Given the description of an element on the screen output the (x, y) to click on. 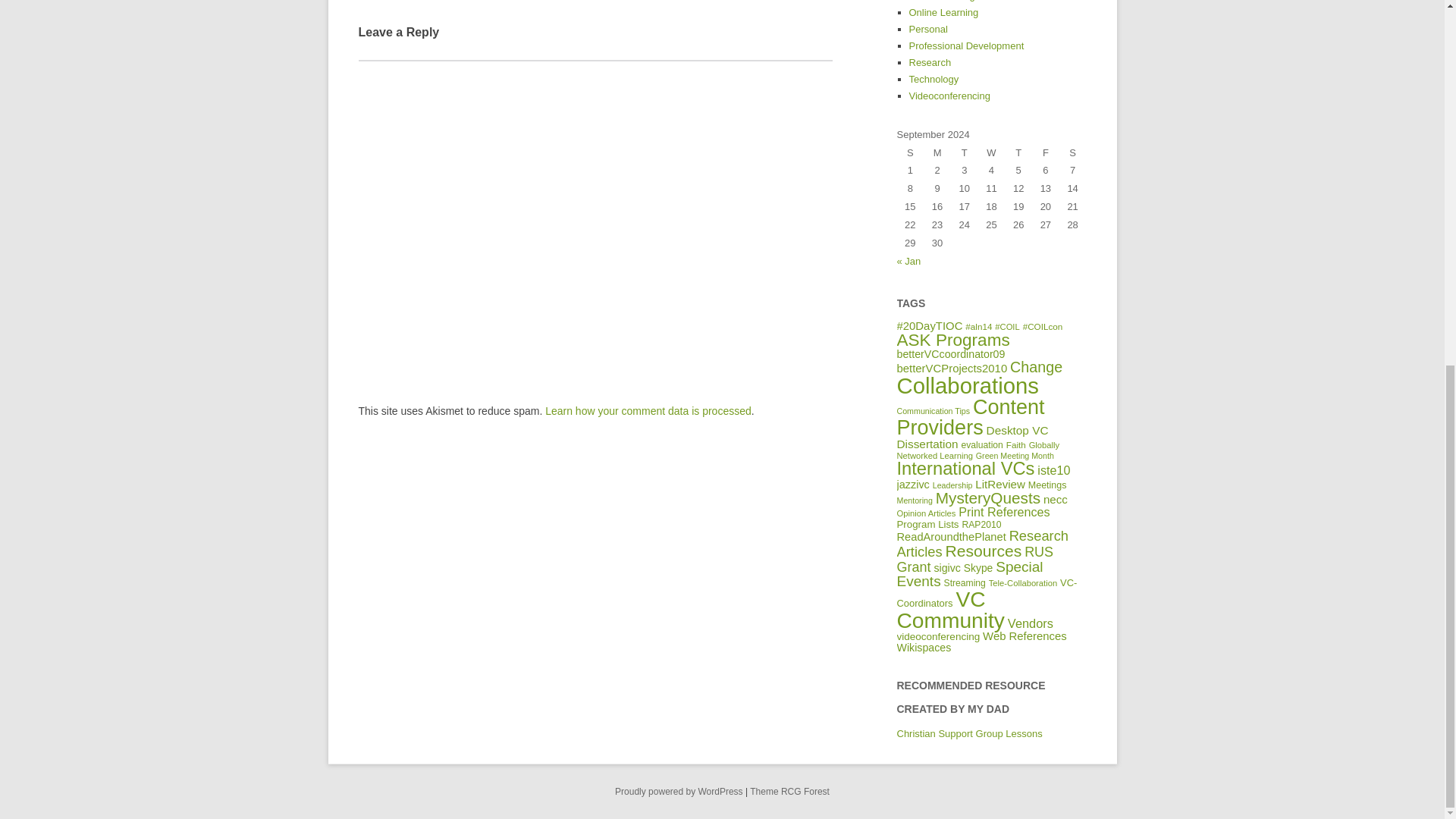
Monday (936, 153)
Sunday (909, 153)
Tuesday (964, 153)
Thursday (1018, 153)
Wednesday (992, 153)
